Given the description of an element on the screen output the (x, y) to click on. 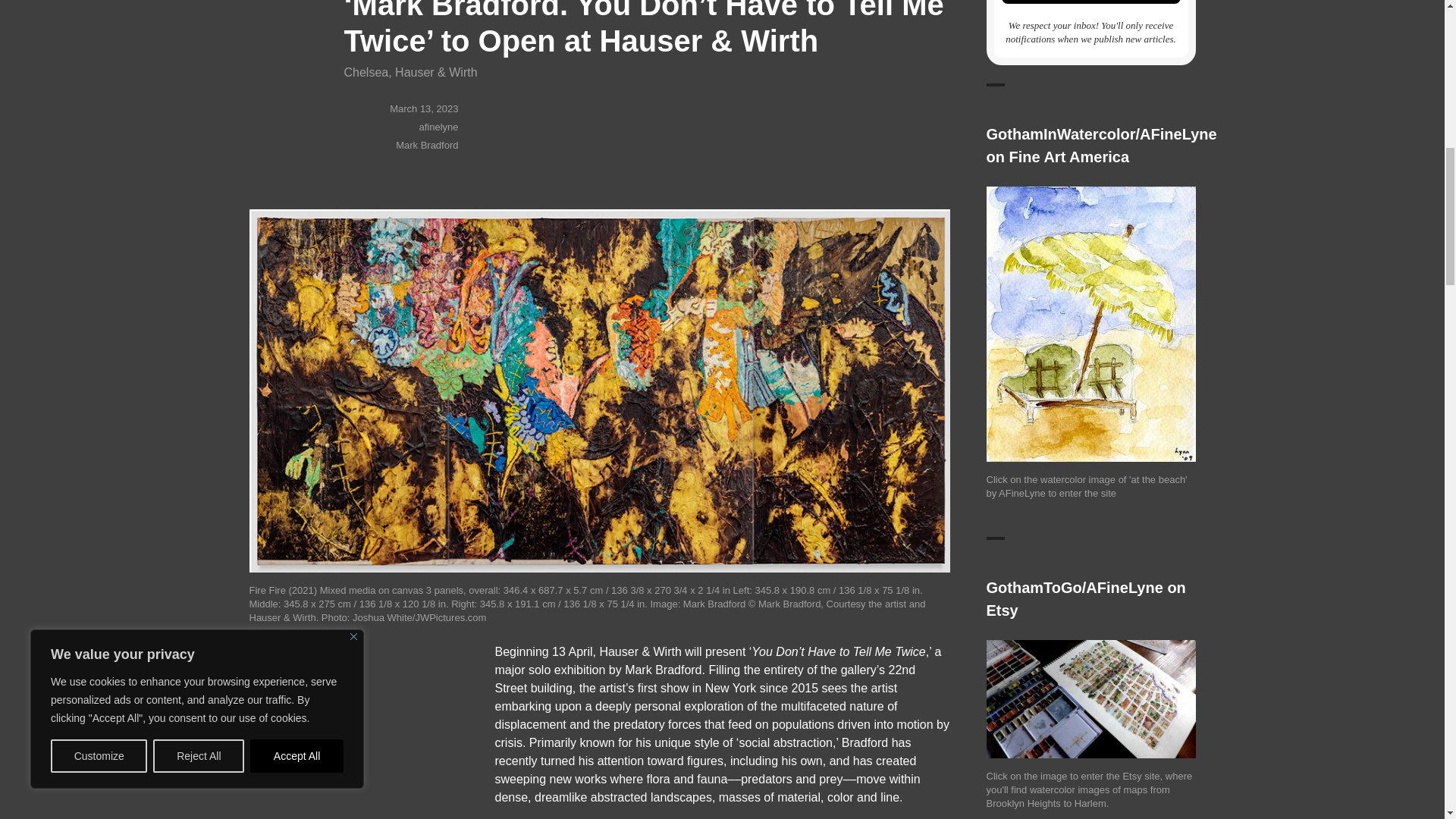
SUBSCRIBE NOW (1090, 2)
Mark Bradford (427, 144)
Chelsea (365, 72)
AFineLyne on Etsy (1090, 698)
SUBSCRIBE NOW (1090, 2)
March 13, 2023 (424, 108)
afinelyne (438, 126)
